Given the description of an element on the screen output the (x, y) to click on. 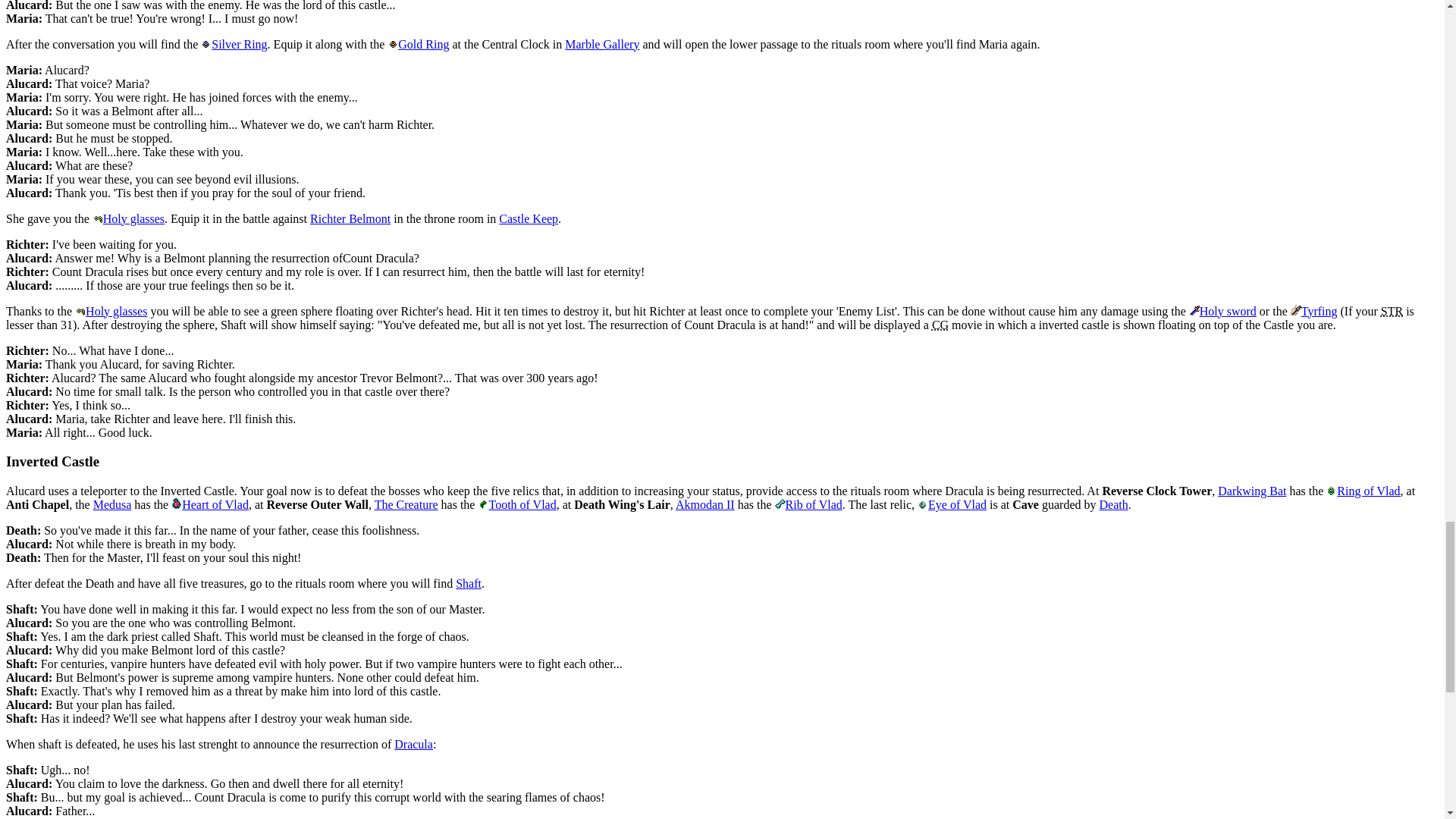
Computer Graphics (940, 324)
Strength (1391, 310)
